Given the description of an element on the screen output the (x, y) to click on. 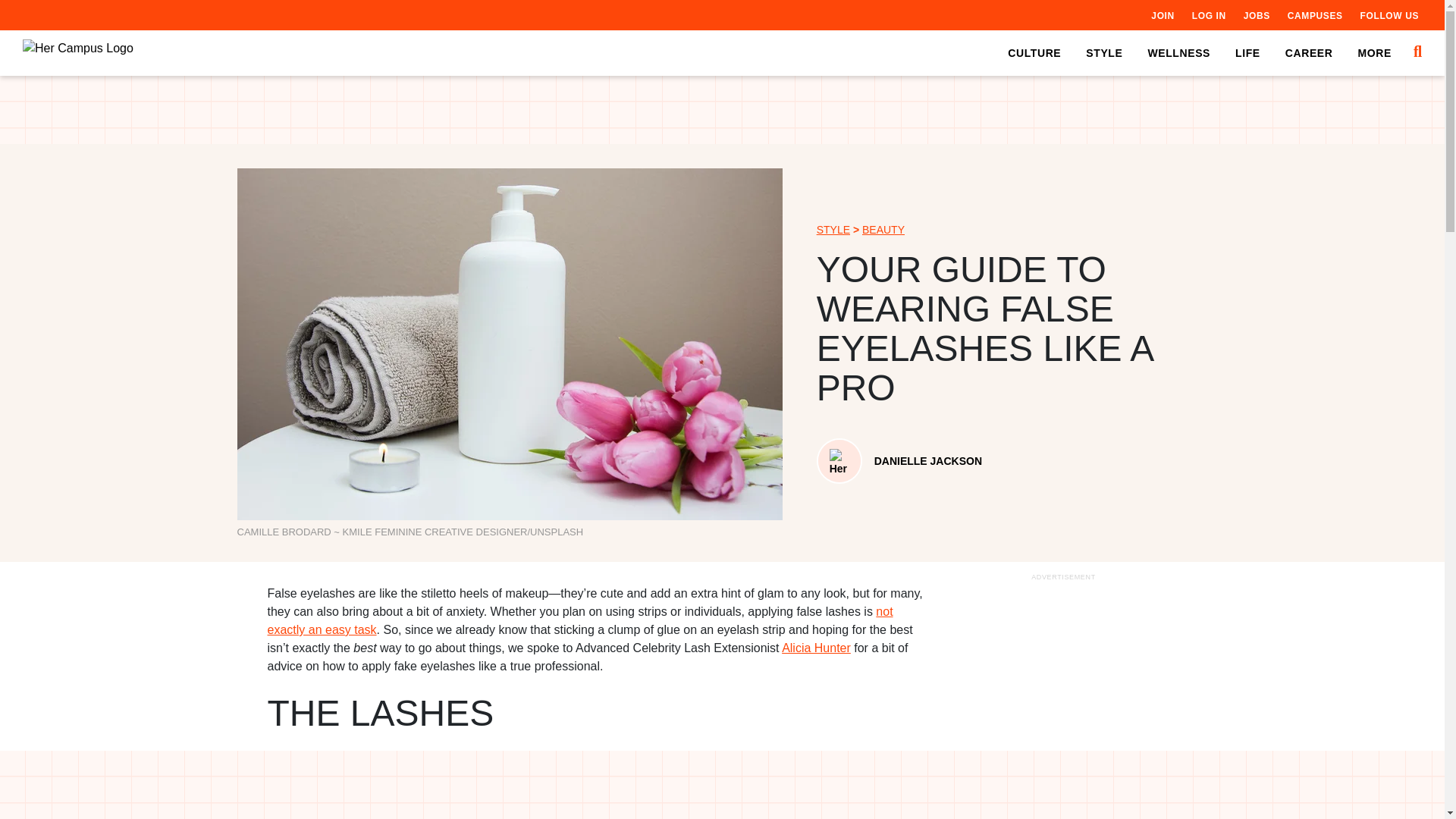
JOBS (1256, 15)
LOG IN (1208, 15)
CAMPUSES (1314, 15)
JOIN (1162, 15)
